Given the description of an element on the screen output the (x, y) to click on. 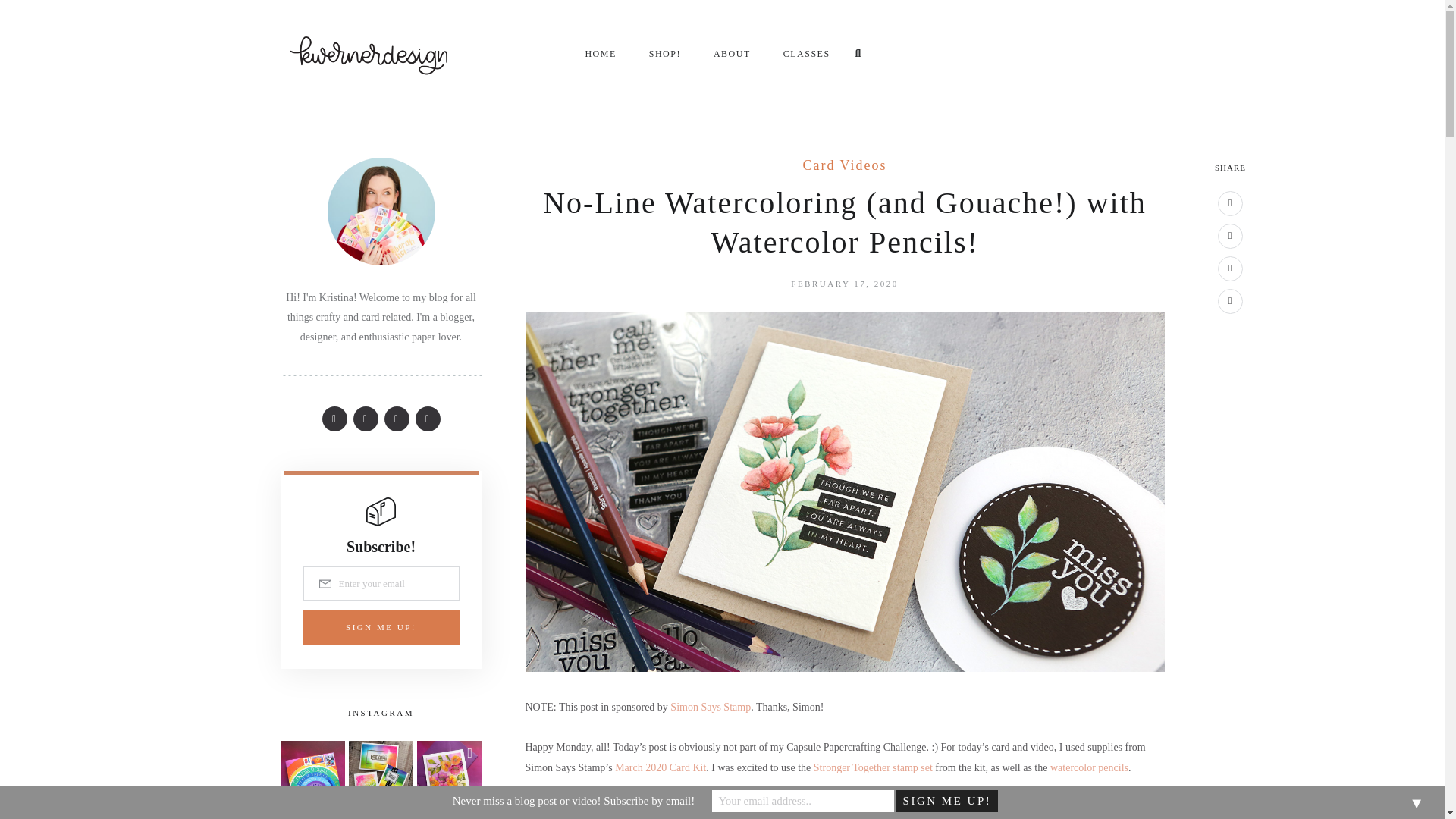
ABOUT (733, 53)
HOME (601, 53)
Sign me up! (381, 627)
Simon Says Stamp (710, 706)
Stronger Together stamp set (873, 767)
Enter your email (381, 583)
Sign me up! (946, 801)
CLASSES (807, 53)
Shop! (665, 53)
watercolor pencils (1088, 767)
About (733, 53)
Card Videos (844, 166)
March 2020 Card Kit (660, 767)
SHOP! (665, 53)
Classes (807, 53)
